Given the description of an element on the screen output the (x, y) to click on. 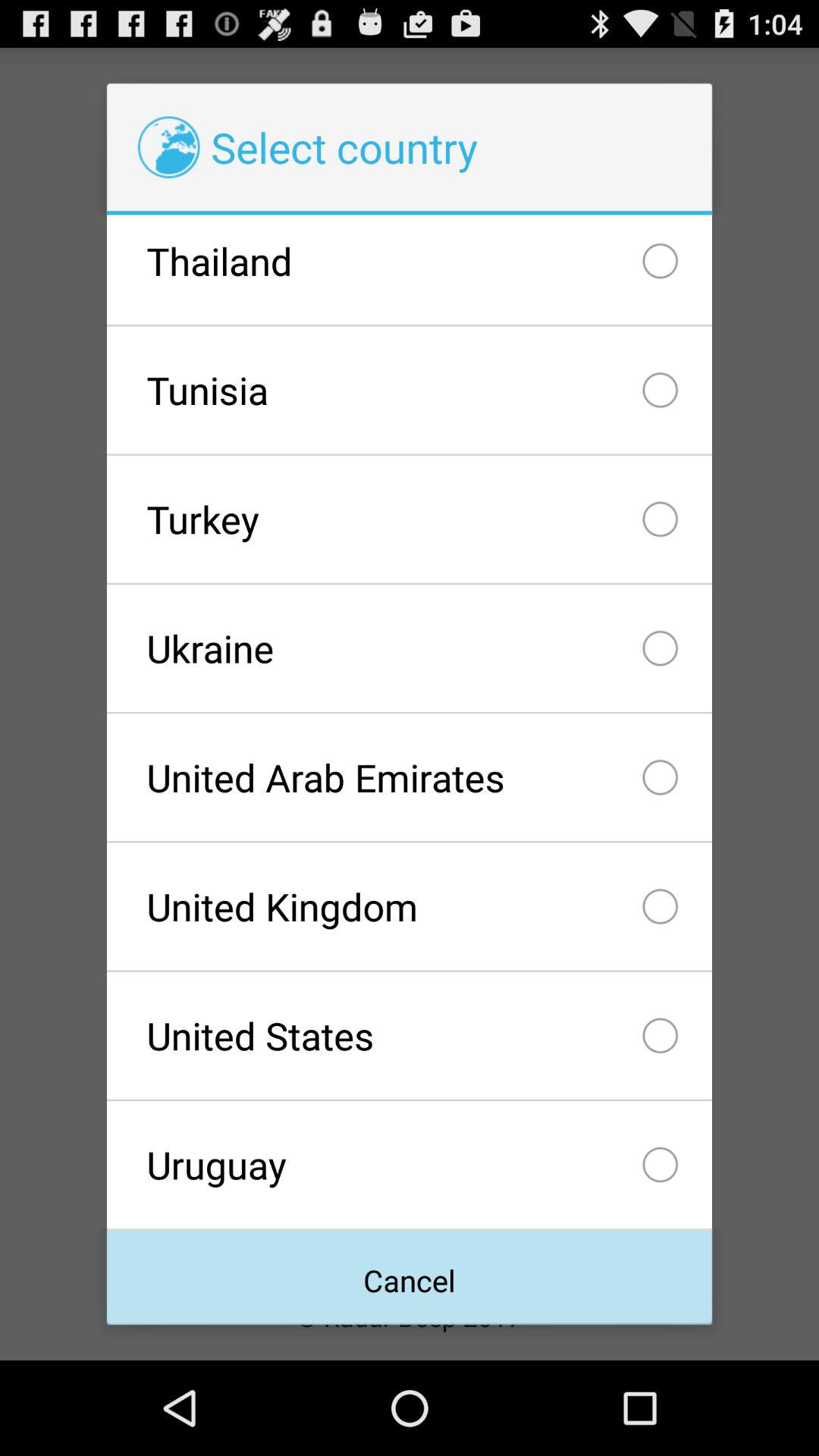
swipe to cancel button (409, 1277)
